Given the description of an element on the screen output the (x, y) to click on. 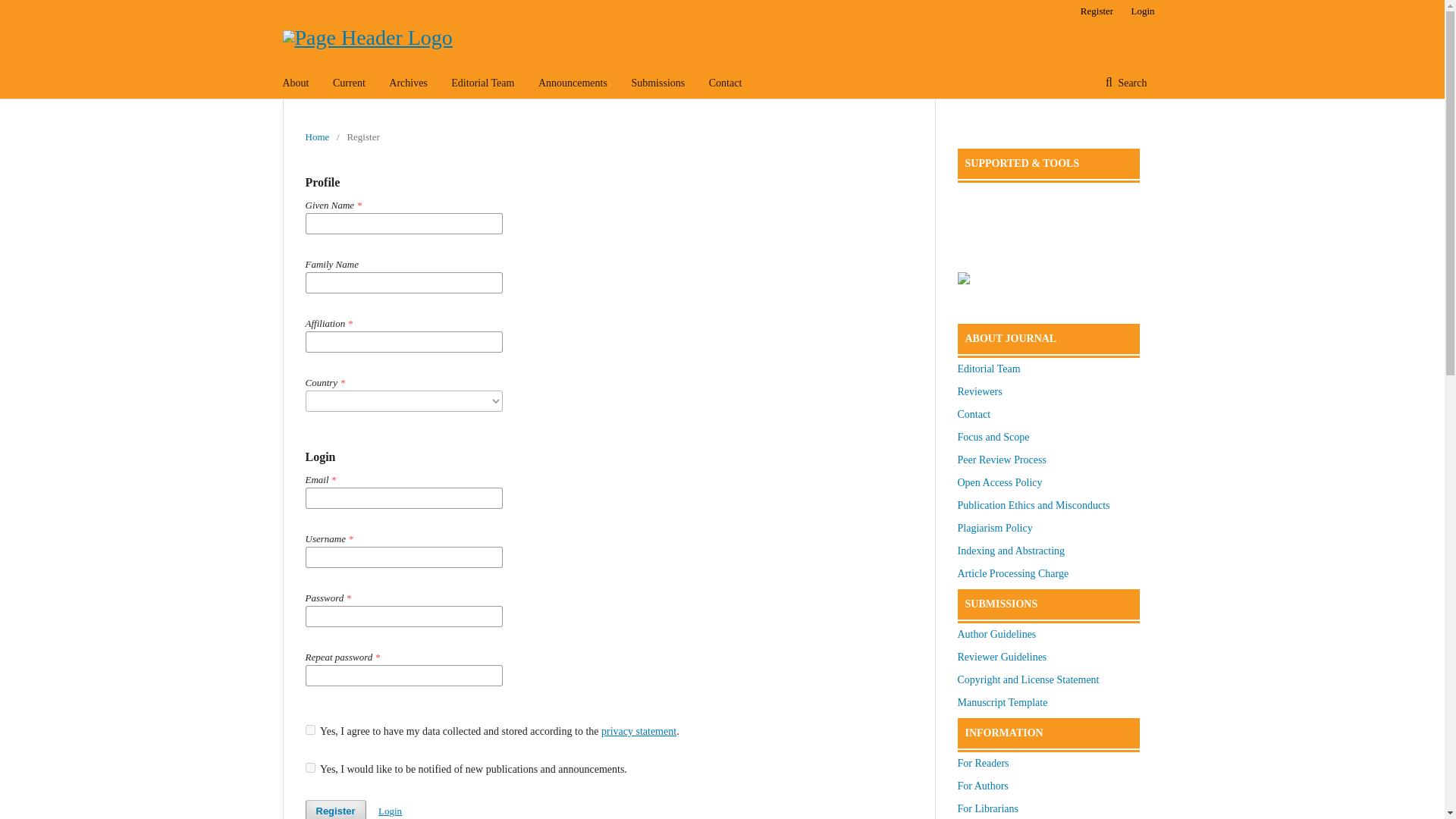
Submissions (657, 82)
Search (1125, 82)
SUBMISSIONS (1047, 603)
Login (1138, 11)
Contact (973, 414)
privacy statement (639, 731)
ABOUT JOURNAL (1047, 338)
Focus and Scope (992, 437)
Peer Review Process (1000, 460)
Editorial Team (482, 82)
Login (389, 810)
Home (316, 136)
Indexing and Abstracting (1010, 550)
Article Processing Charge (1012, 573)
Current (349, 82)
